Given the description of an element on the screen output the (x, y) to click on. 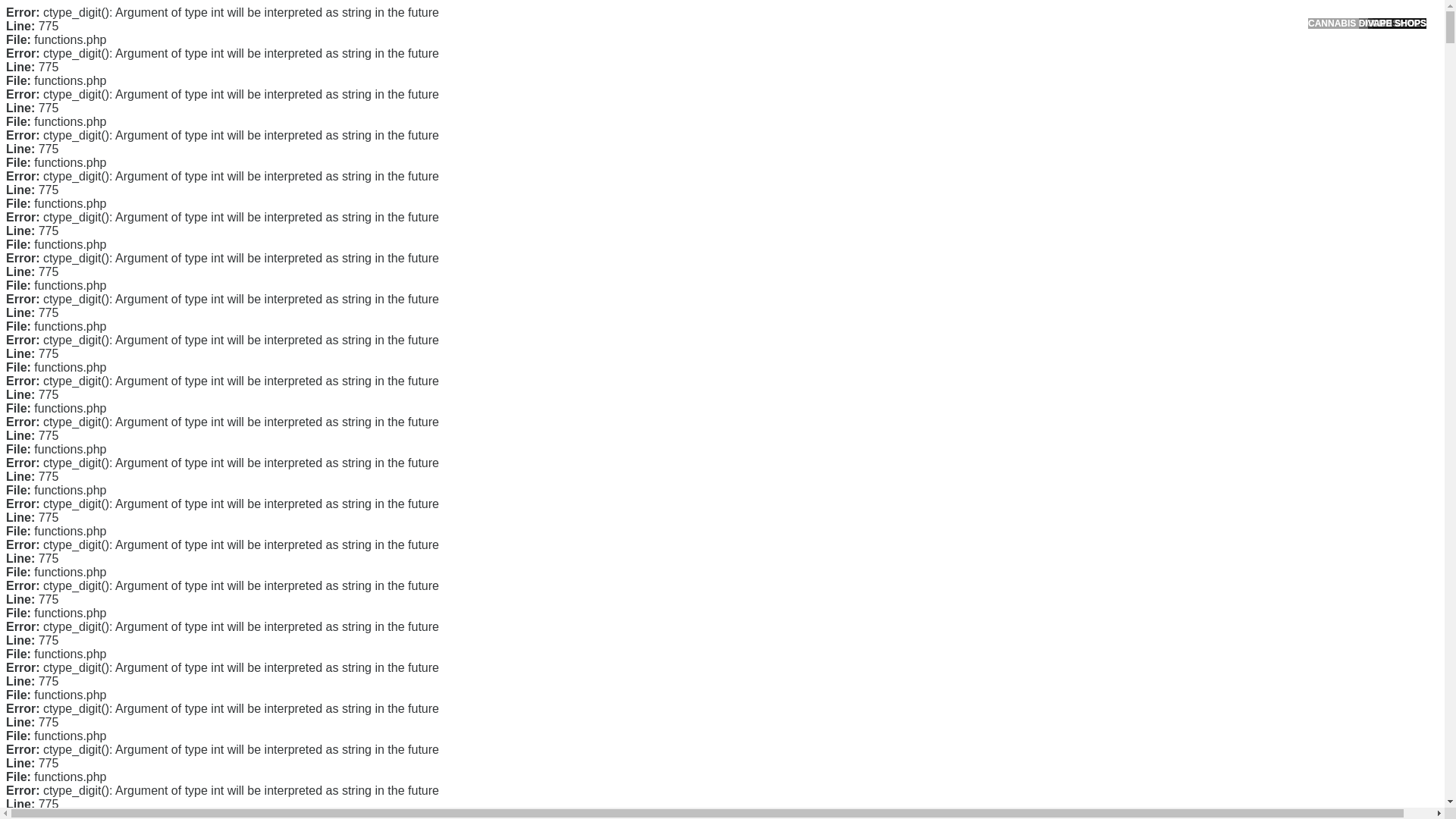
Blog (976, 510)
Search (1050, 85)
September 2020 (1005, 432)
Contact Us (991, 258)
Log in (980, 588)
Terms of Use (996, 330)
Search for: (1049, 47)
DMCA Policy (996, 282)
learn more (592, 571)
Latest Article (996, 172)
OSCARCOLLECTIVE.CO.UK (432, 28)
Search (1050, 85)
Disclaimer (990, 354)
additional resources (780, 630)
RSS (977, 612)
